Given the description of an element on the screen output the (x, y) to click on. 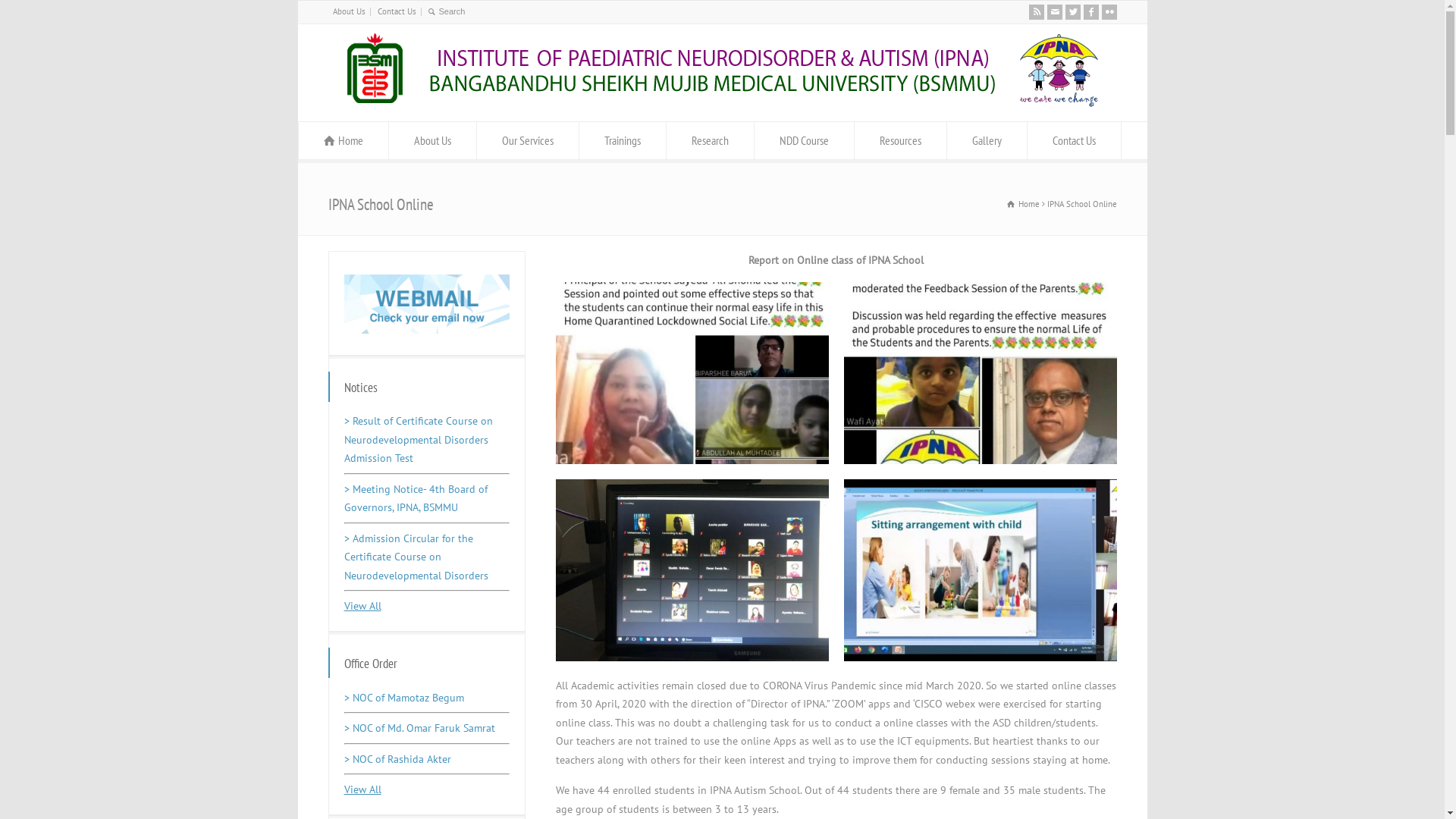
Facebook Element type: hover (1090, 11)
Our Services Element type: text (526, 140)
Contact Us Element type: text (396, 11)
Home Element type: text (1023, 203)
Contact Us Element type: text (1073, 140)
About Us Element type: text (431, 140)
Email Element type: hover (1053, 11)
> NOC of Md. Omar Faruk Samrat Element type: text (419, 727)
> NOC of Rashida Akter Element type: text (397, 758)
View All Element type: text (362, 789)
RSS Element type: hover (1035, 11)
Institute of Paediatric Neurodisorder & Autism (IPNA) Element type: hover (722, 103)
View All Element type: text (362, 605)
Gallery Element type: text (986, 140)
NDD Course Element type: text (803, 140)
> Meeting Notice- 4th Board of Governors, IPNA, BSMMU Element type: text (415, 498)
Home Element type: text (343, 140)
Research Element type: text (709, 140)
Flickr Element type: hover (1108, 11)
Resources Element type: text (899, 140)
Twitter Element type: hover (1071, 11)
About Us Element type: text (348, 11)
Trainings Element type: text (622, 140)
> NOC of Mamotaz Begum Element type: text (404, 697)
